Given the description of an element on the screen output the (x, y) to click on. 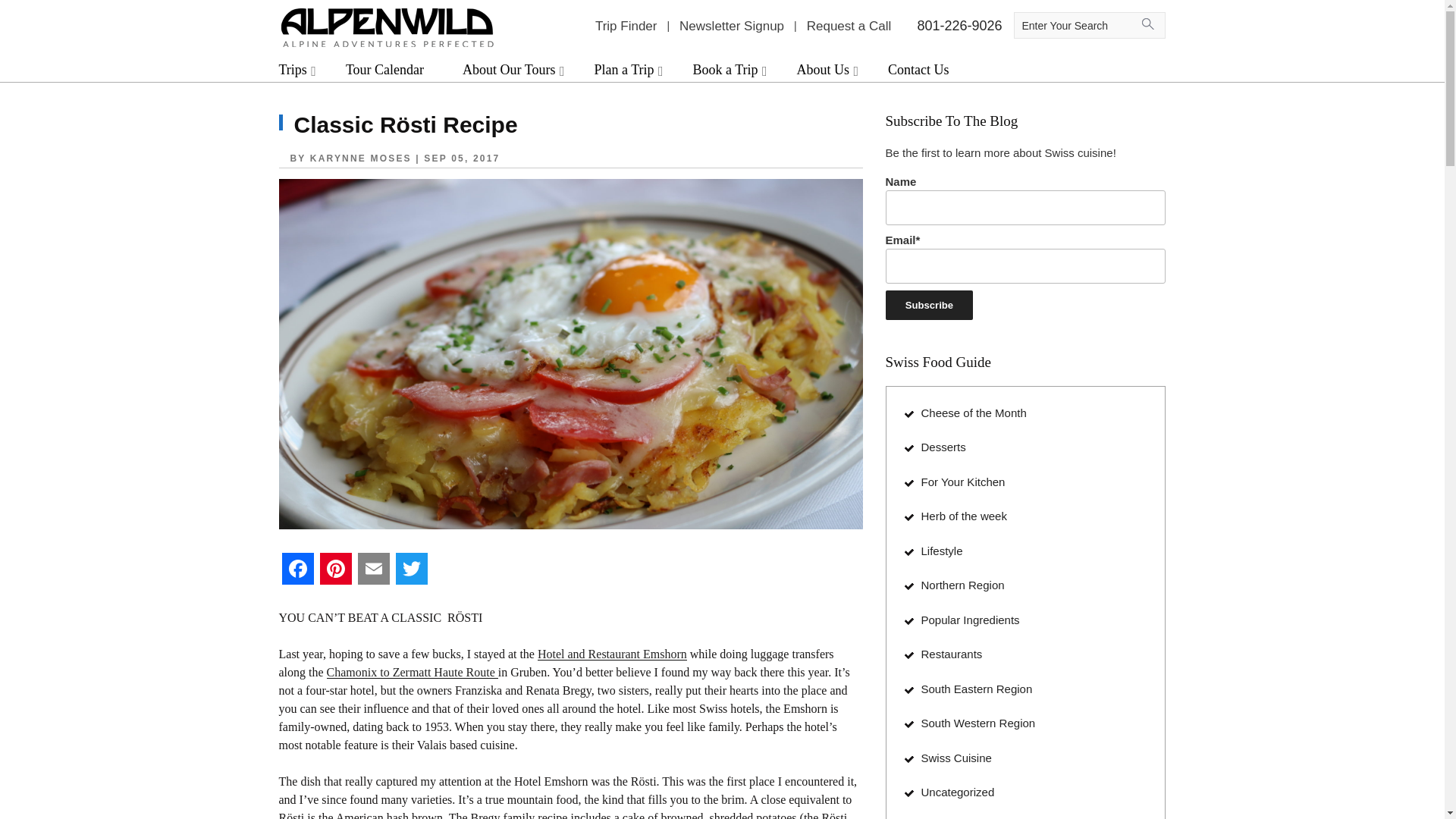
Subscribe (929, 304)
